Given the description of an element on the screen output the (x, y) to click on. 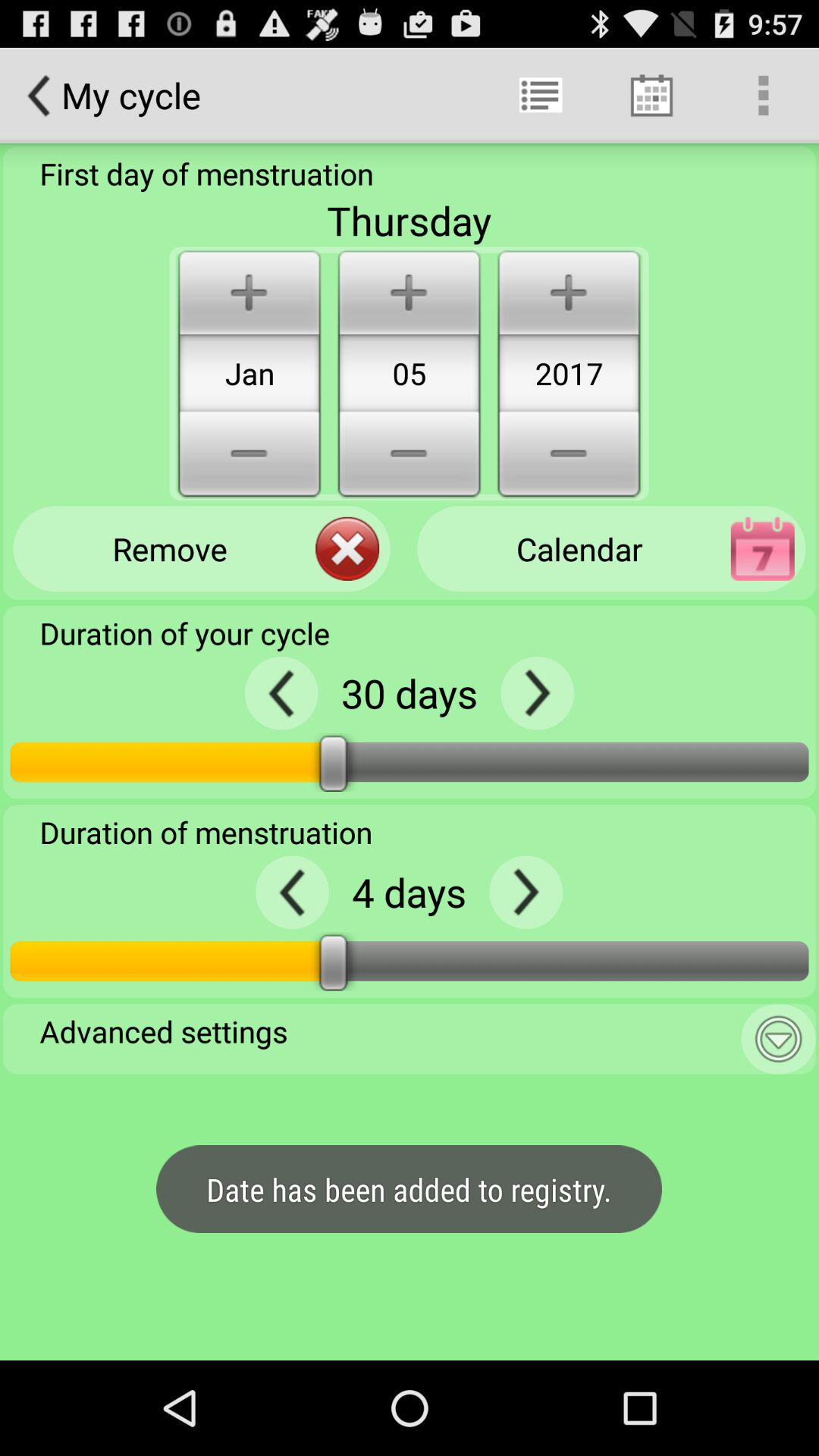
go back button option (537, 693)
